Given the description of an element on the screen output the (x, y) to click on. 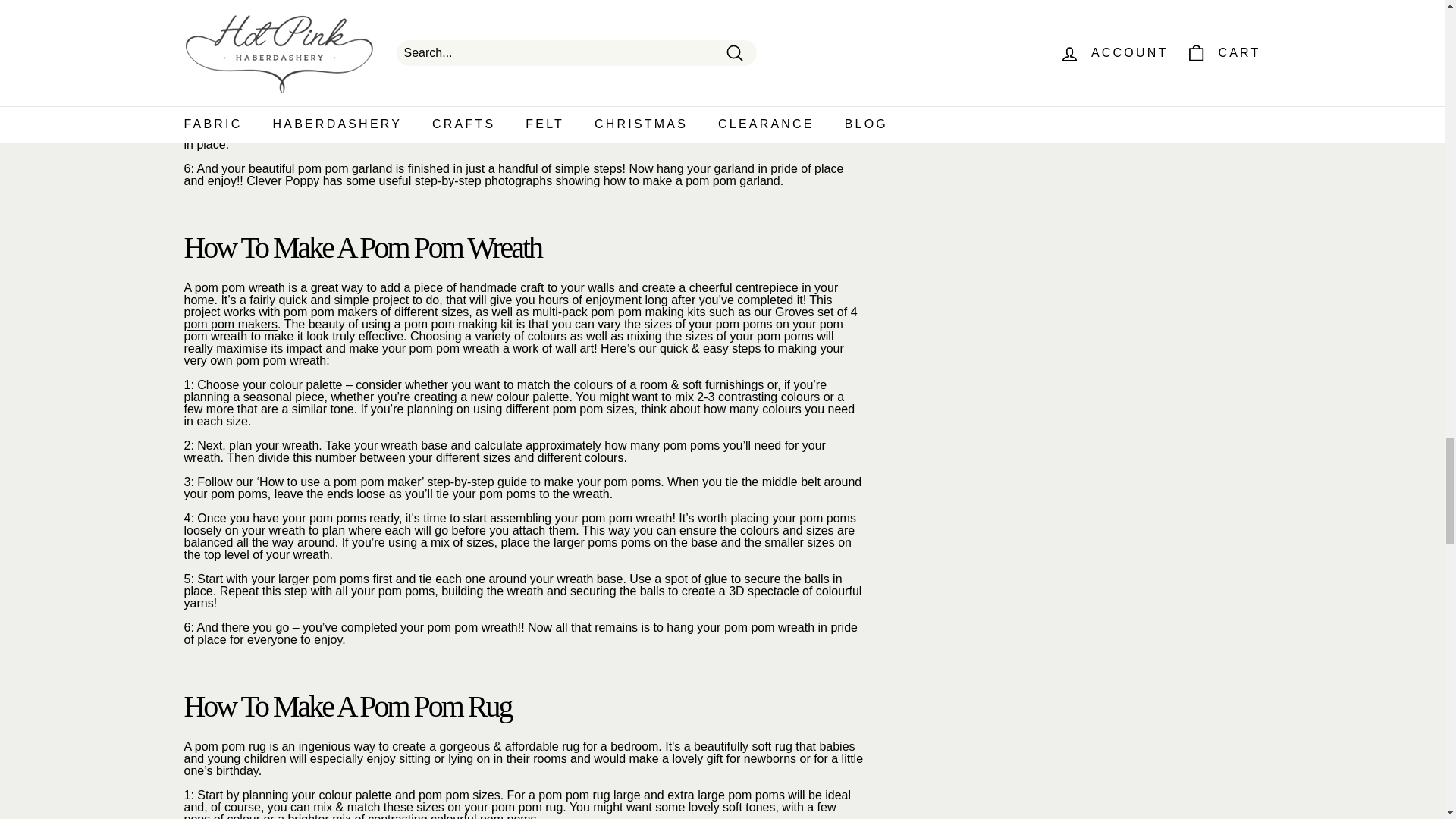
Bamboo cord (703, 2)
how to make a pom pom garland (282, 180)
groves set of 4 pom pom makers,  (520, 317)
Milward tapestry needle (388, 107)
Baker's twine (563, 2)
